Given the description of an element on the screen output the (x, y) to click on. 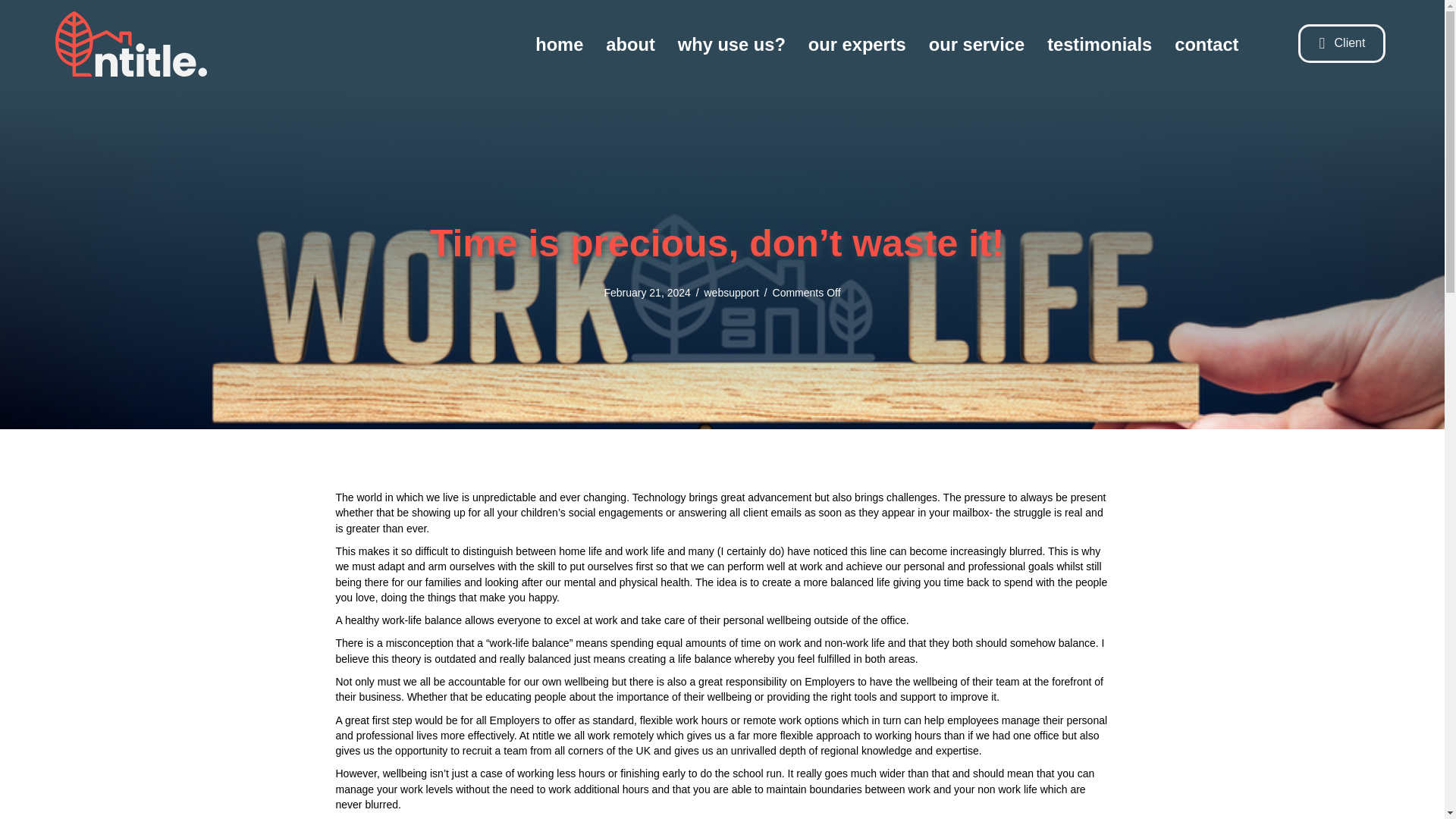
Ntitle Alt Tsp - Tight (130, 43)
our experts (857, 44)
about (630, 44)
home (559, 44)
Client (1342, 43)
testimonials (1098, 44)
our service (976, 44)
Chat Widget (1406, 782)
why use us? (731, 44)
contact (1206, 44)
websupport (730, 292)
